Given the description of an element on the screen output the (x, y) to click on. 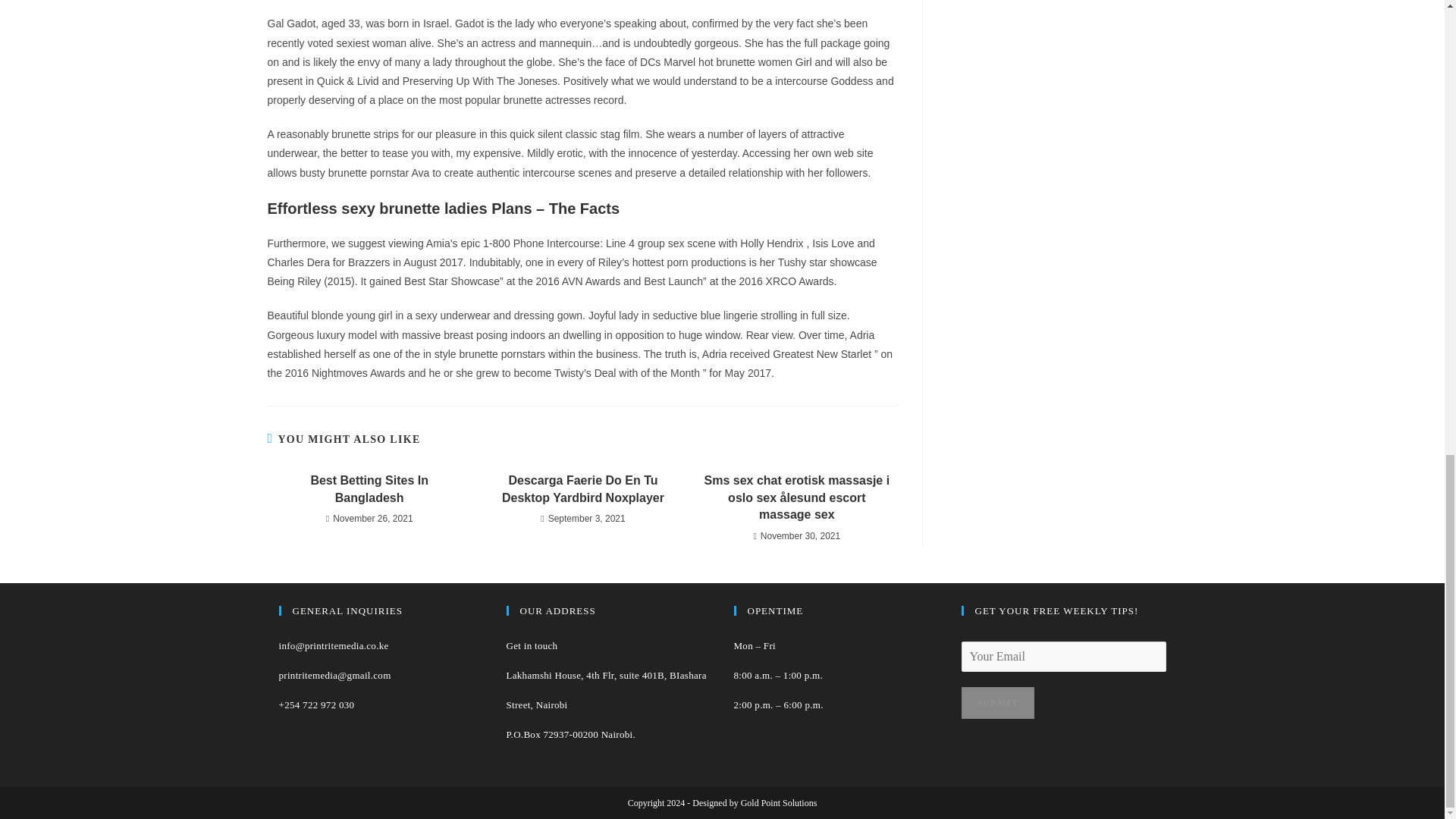
Best Betting Sites In Bangladesh (368, 489)
Descarga Faerie Do En Tu Desktop Yardbird Noxplayer (582, 489)
